Given the description of an element on the screen output the (x, y) to click on. 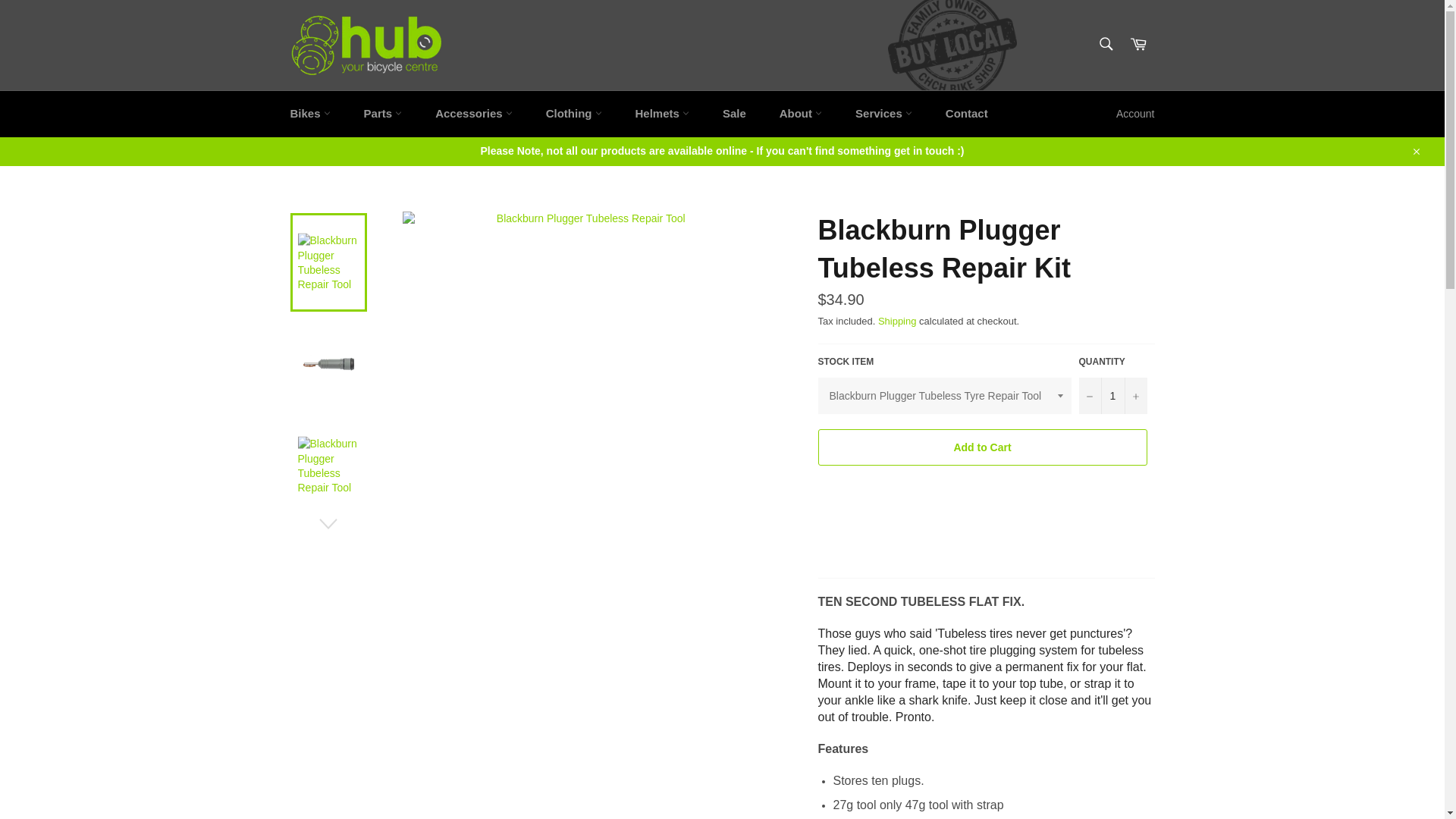
1 (1112, 395)
